Given the description of an element on the screen output the (x, y) to click on. 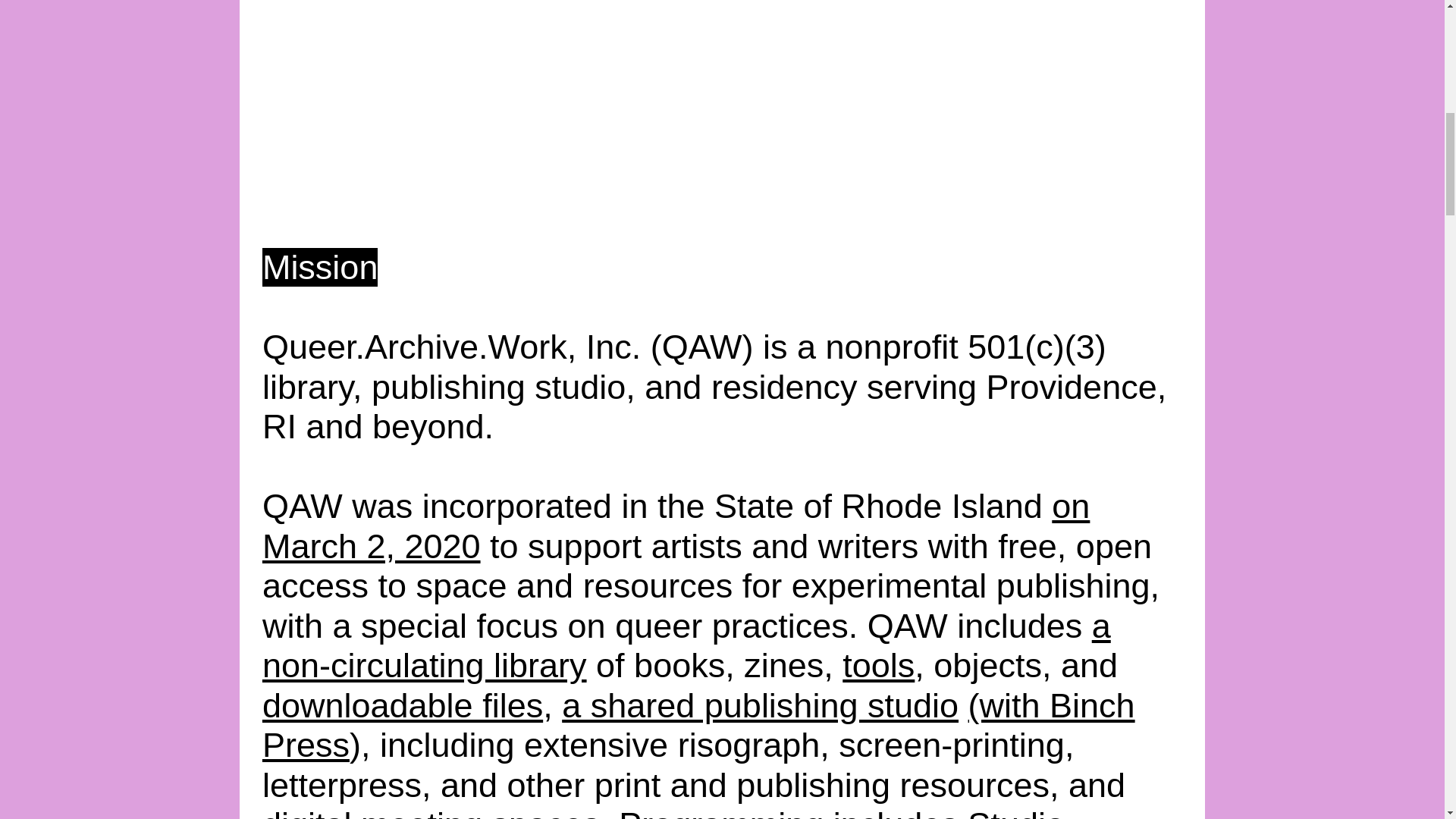
tools (878, 665)
downloadable files (402, 705)
a shared publishing studio (760, 705)
